Given the description of an element on the screen output the (x, y) to click on. 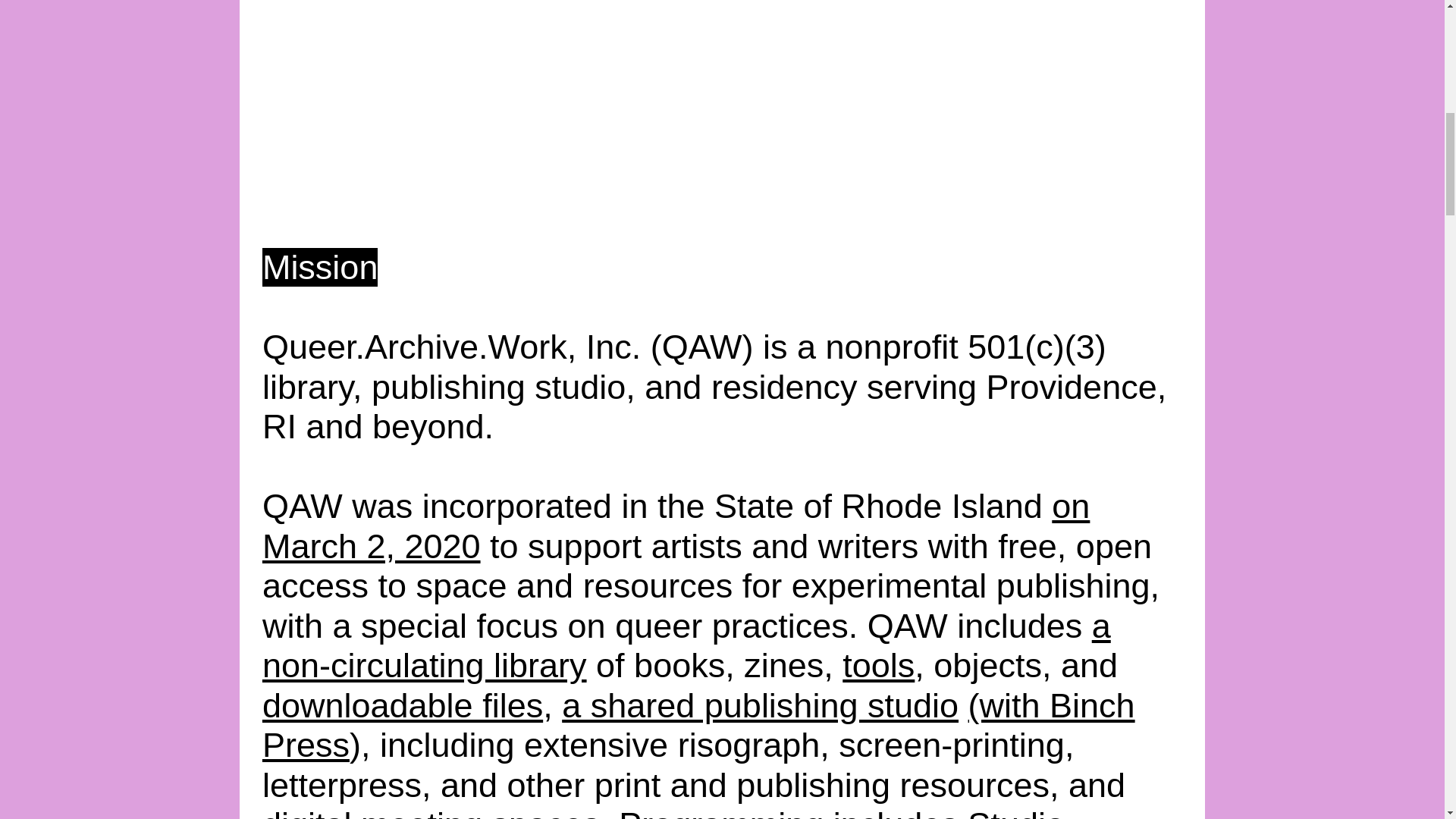
tools (878, 665)
downloadable files (402, 705)
a shared publishing studio (760, 705)
